Given the description of an element on the screen output the (x, y) to click on. 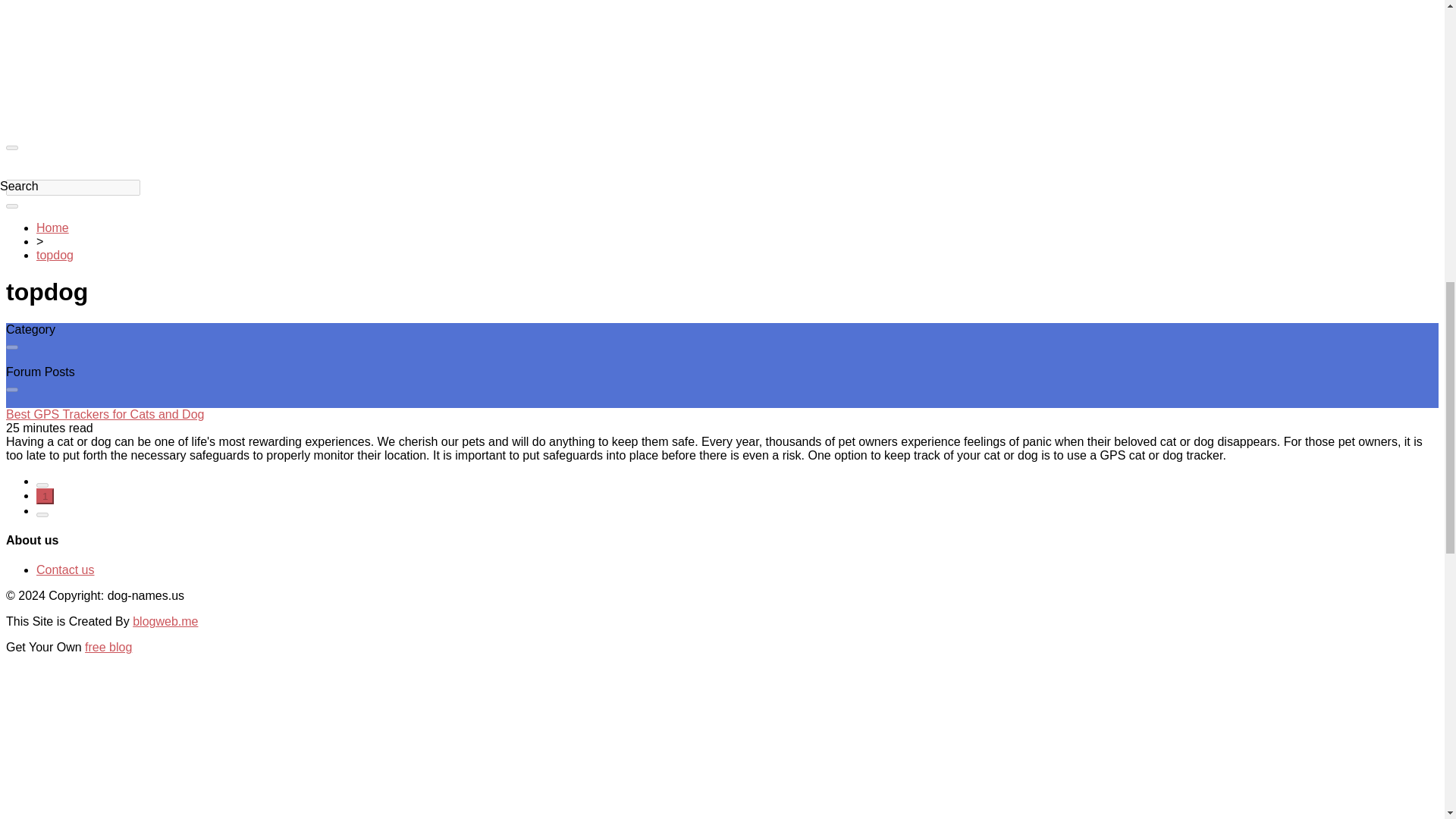
Contact us (65, 569)
free blog (108, 646)
blogweb.me (165, 621)
Home (52, 227)
Best GPS Trackers for Cats and Dog (104, 413)
topdog (55, 254)
1 (44, 496)
